Given the description of an element on the screen output the (x, y) to click on. 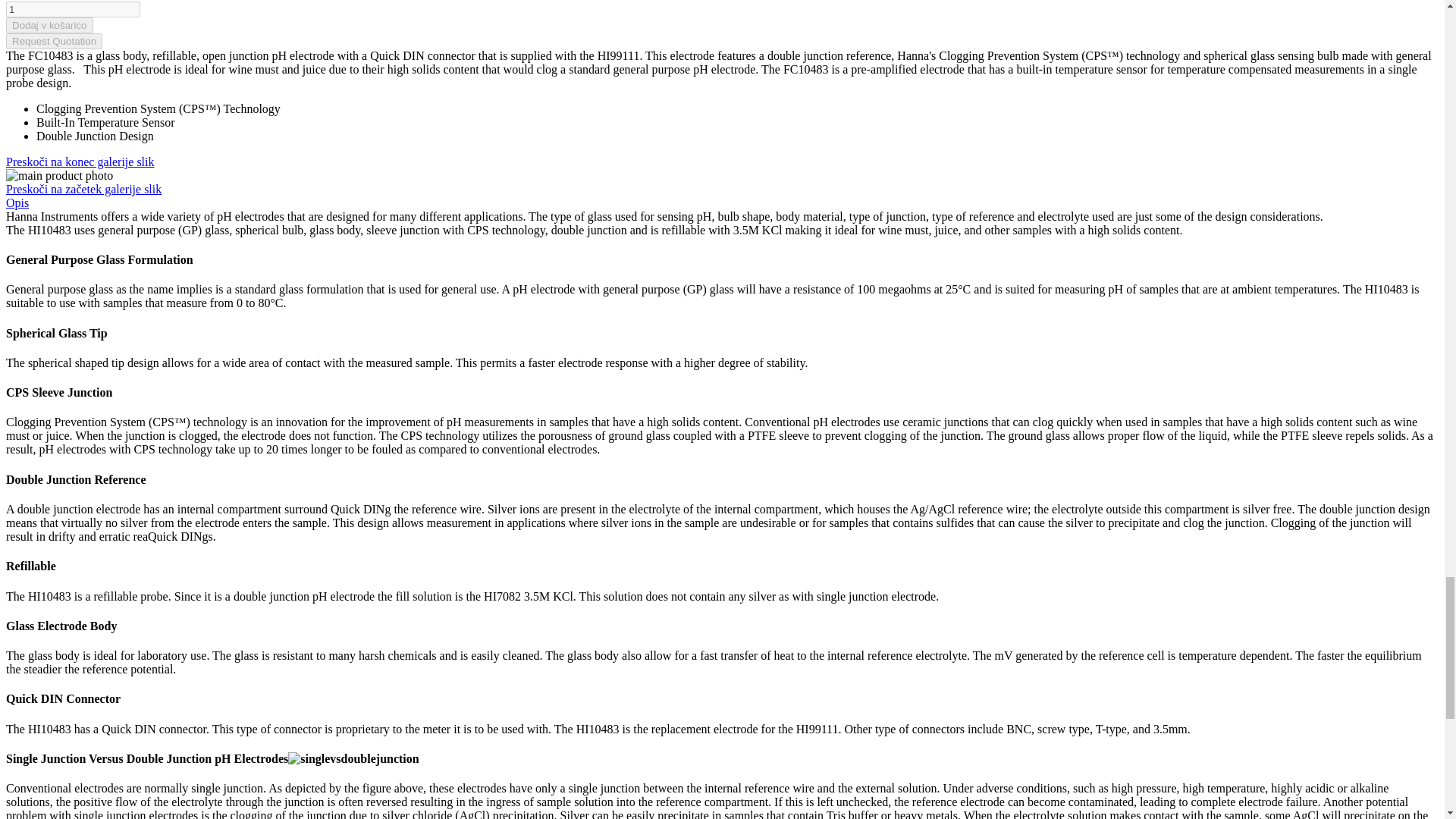
1 (72, 9)
Request Quotation (53, 41)
